Given the description of an element on the screen output the (x, y) to click on. 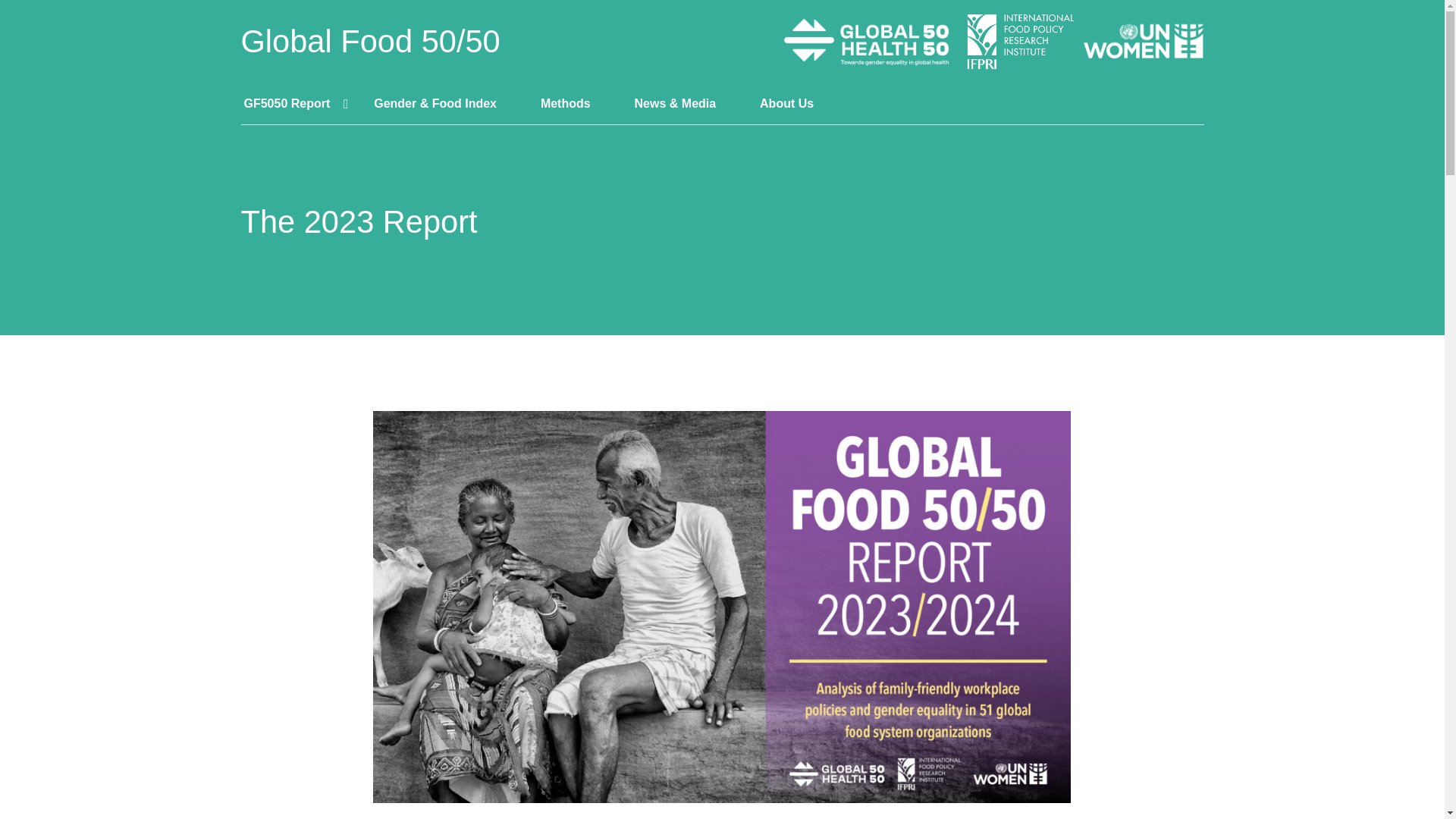
Methods (565, 103)
GF5050 Report (295, 103)
About Us (786, 103)
